Given the description of an element on the screen output the (x, y) to click on. 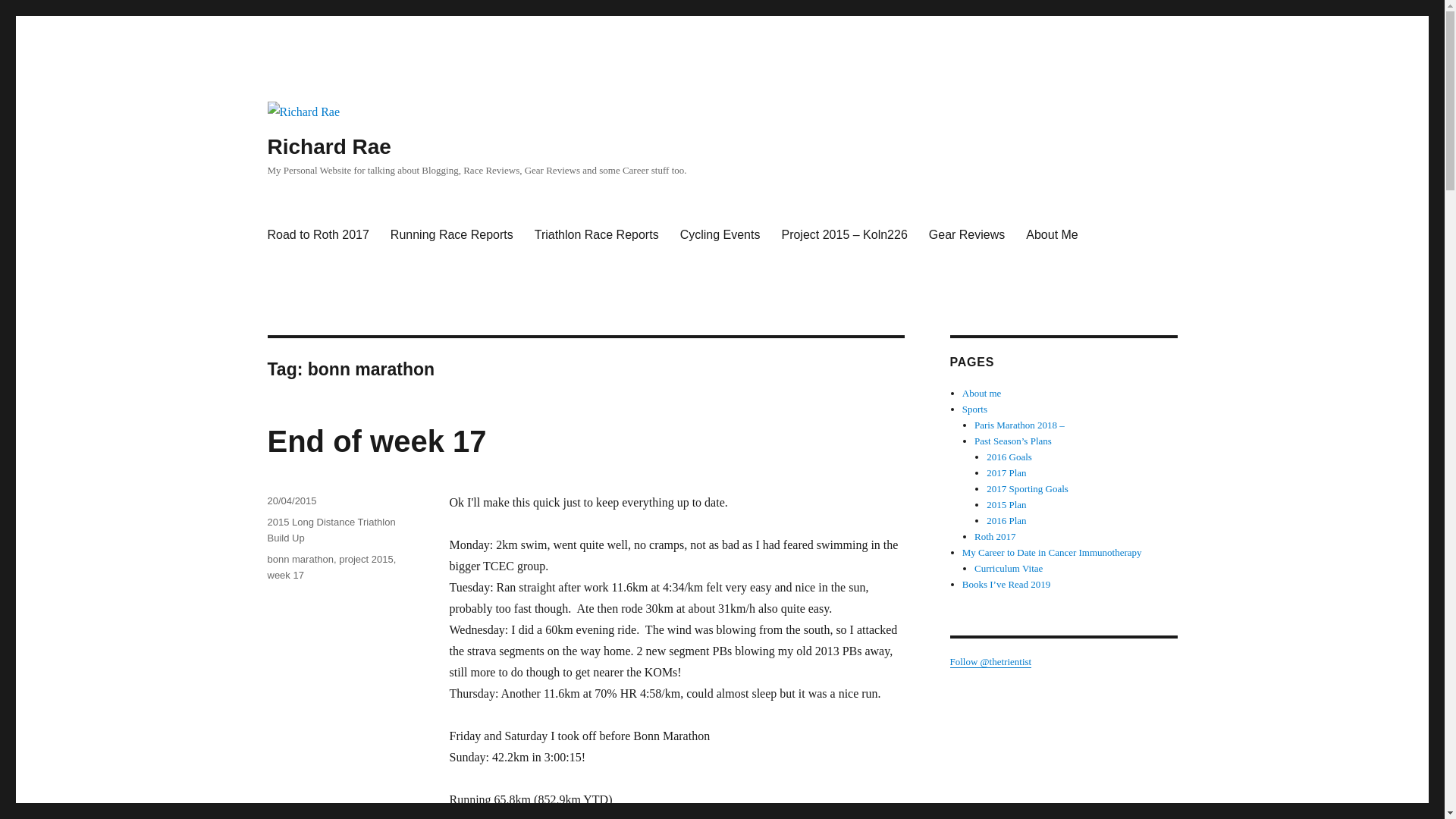
Richard Rae (328, 146)
Gear Reviews (966, 234)
About me (981, 392)
2017 Plan (1006, 472)
Running Race Reports (452, 234)
Cycling Events (720, 234)
Sports (974, 408)
About Me (1050, 234)
2016 Goals (1009, 456)
bonn marathon (299, 559)
